Given the description of an element on the screen output the (x, y) to click on. 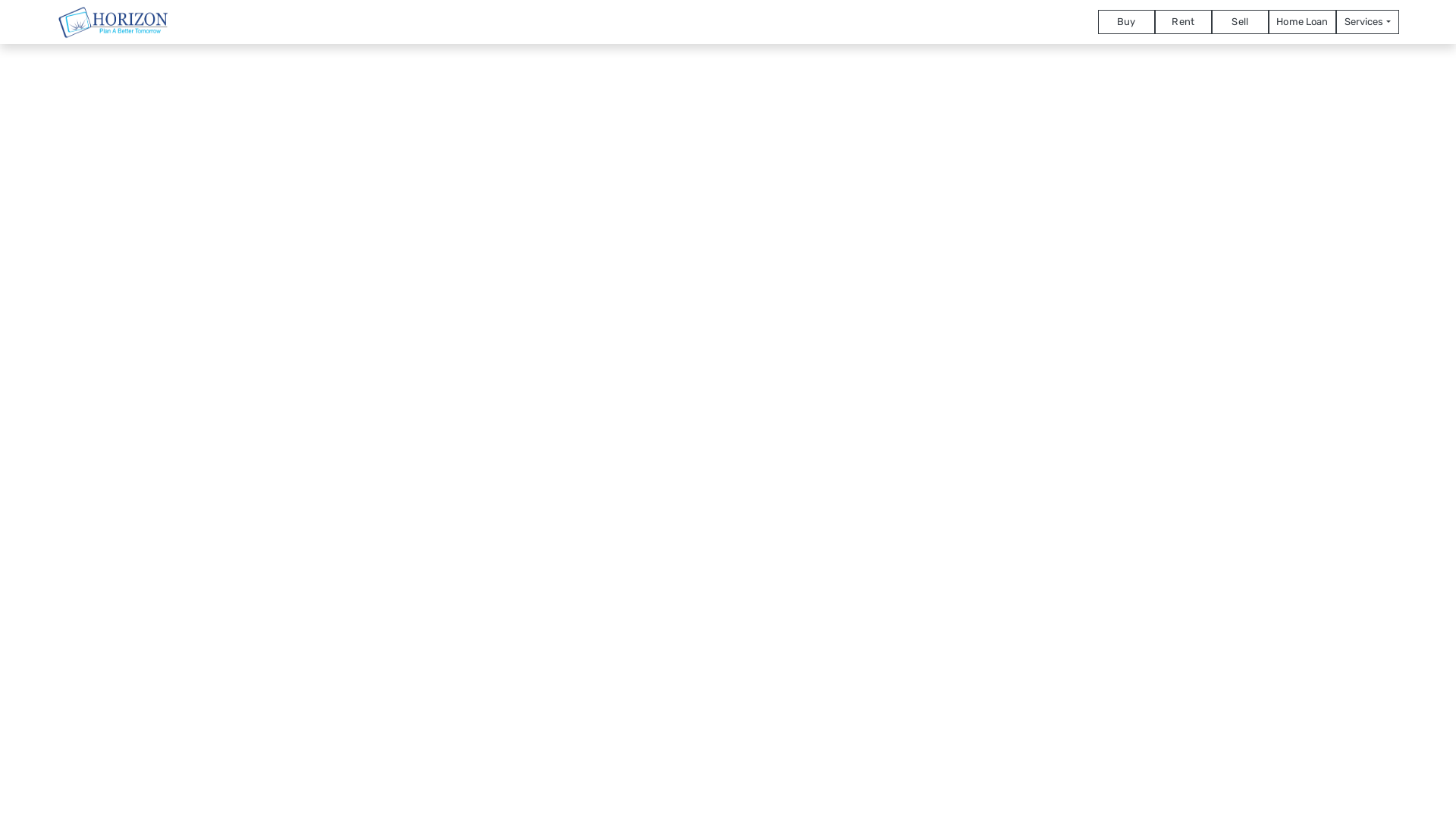
Buy Element type: text (1126, 21)
Sell Element type: text (1239, 21)
Rent Element type: text (1182, 21)
Services Element type: text (1367, 21)
Home Loan Element type: text (1302, 21)
